Given the description of an element on the screen output the (x, y) to click on. 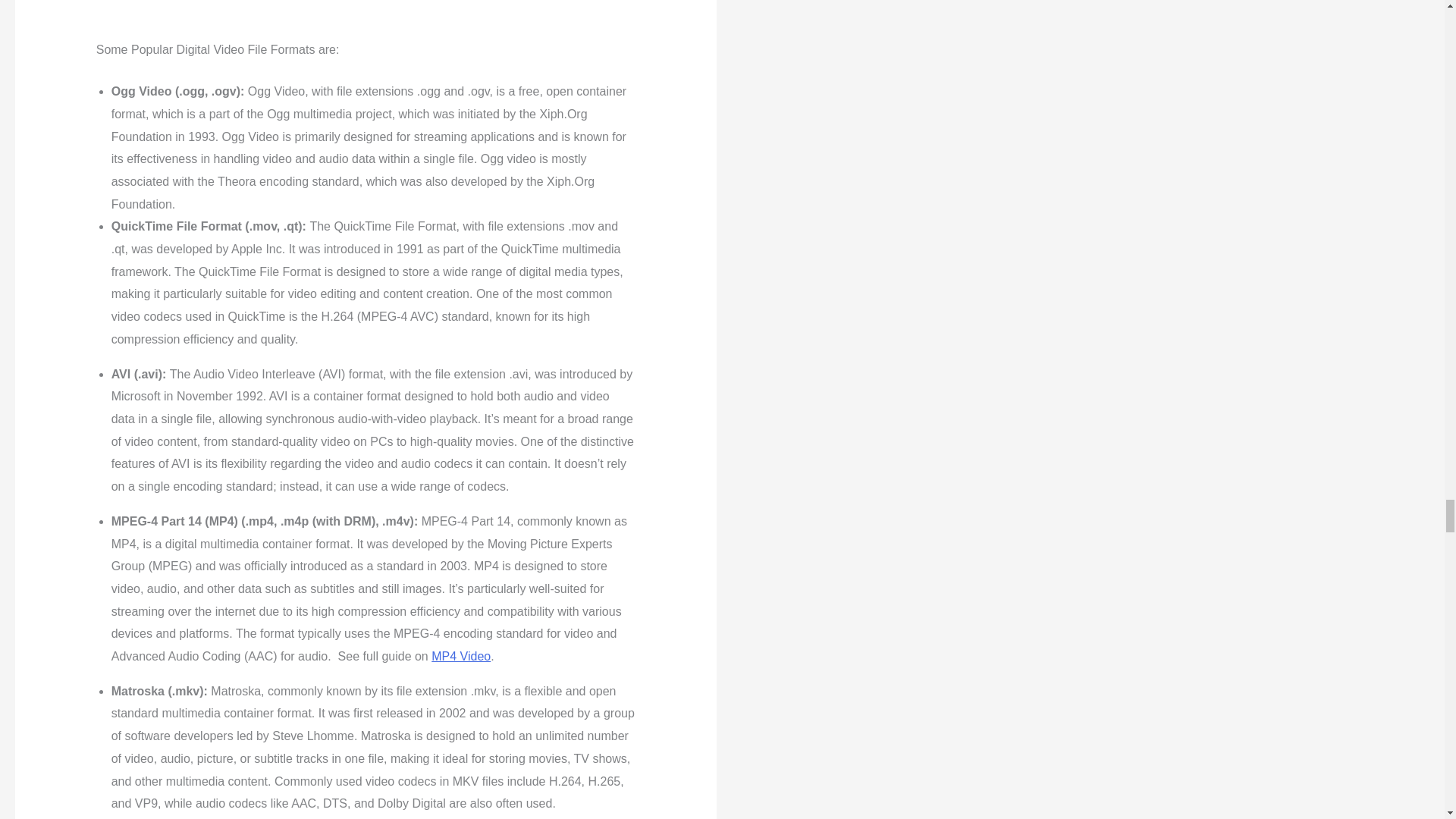
MP4 Video (460, 656)
